Given the description of an element on the screen output the (x, y) to click on. 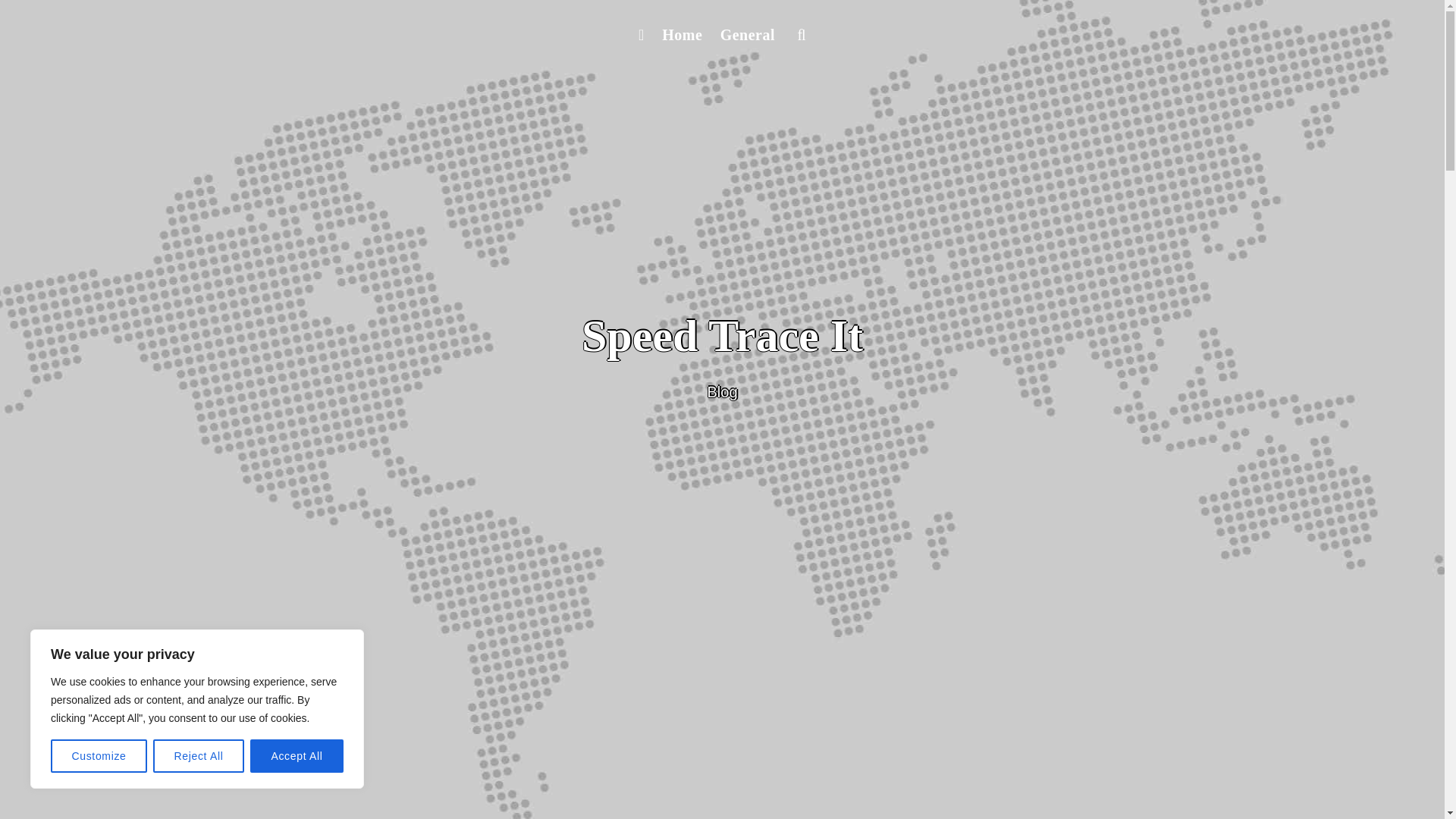
Home (681, 35)
General (747, 35)
Reject All (198, 756)
Accept All (296, 756)
Speed Trace It (721, 336)
Customize (98, 756)
